Given the description of an element on the screen output the (x, y) to click on. 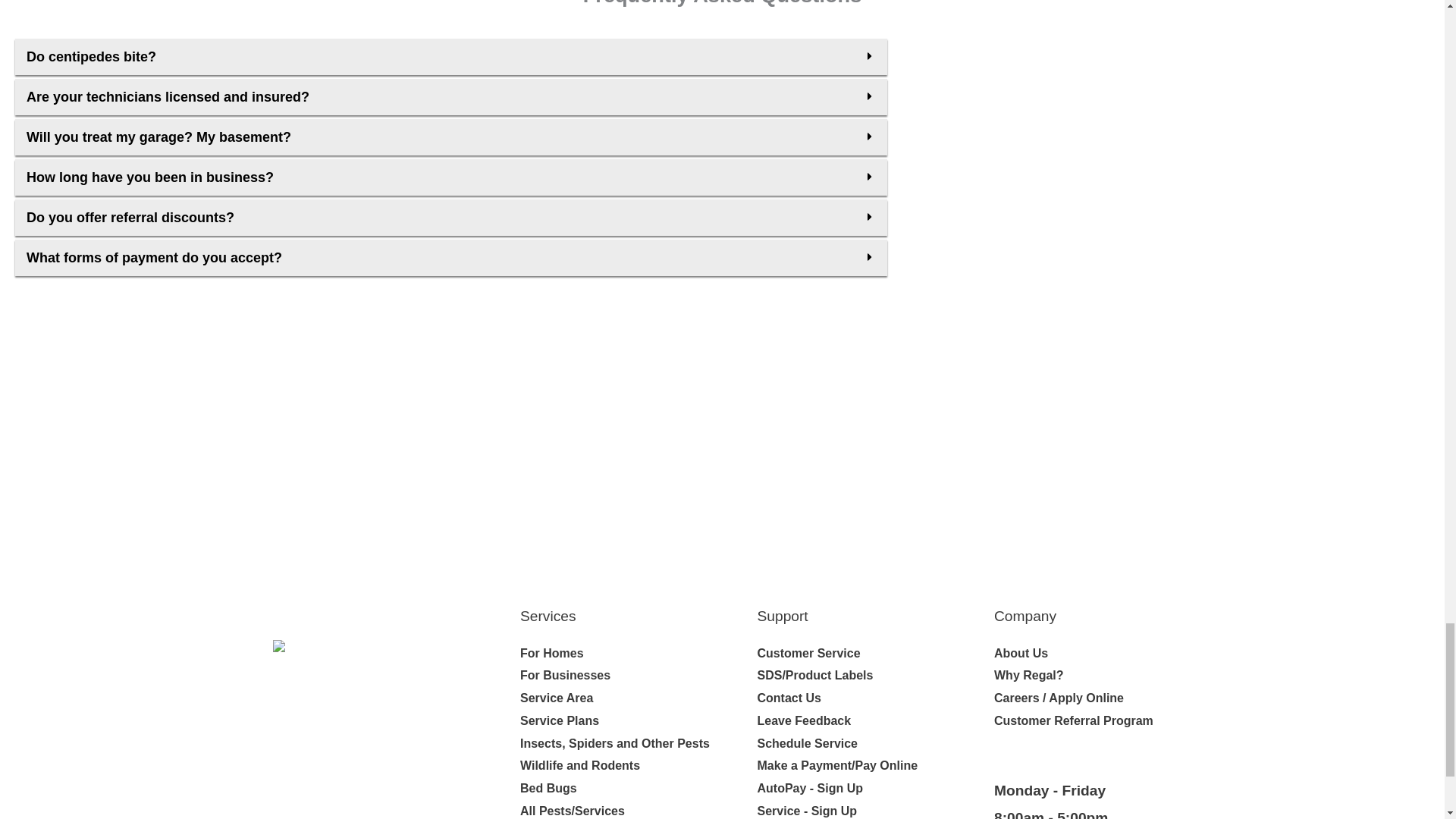
Do centipedes bite? (90, 56)
How long have you been in business? (149, 177)
Are your technicians licensed and insured? (167, 96)
Will you treat my garage? My basement? (158, 136)
